Given the description of an element on the screen output the (x, y) to click on. 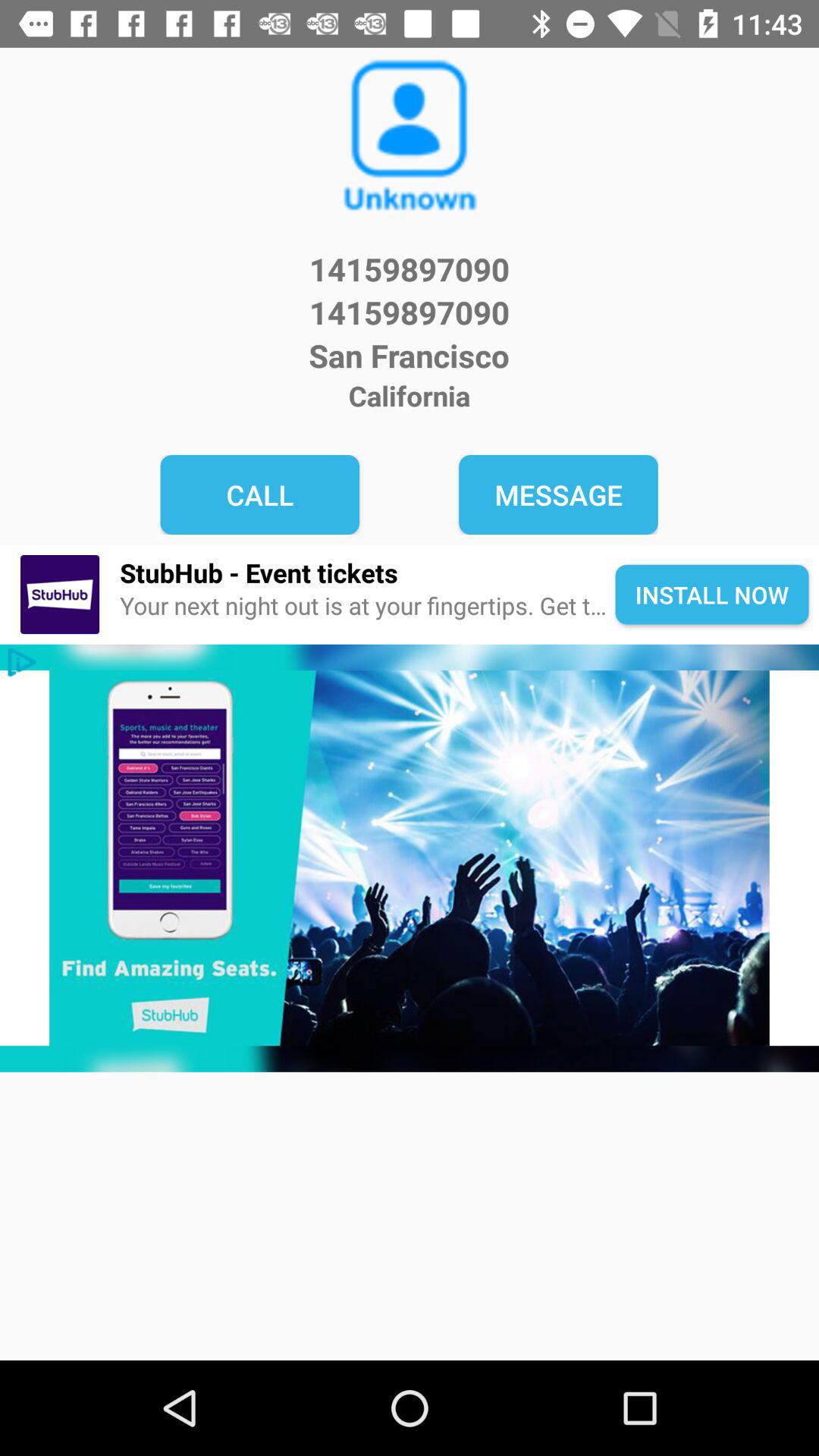
turn on item to the right of call (558, 494)
